Given the description of an element on the screen output the (x, y) to click on. 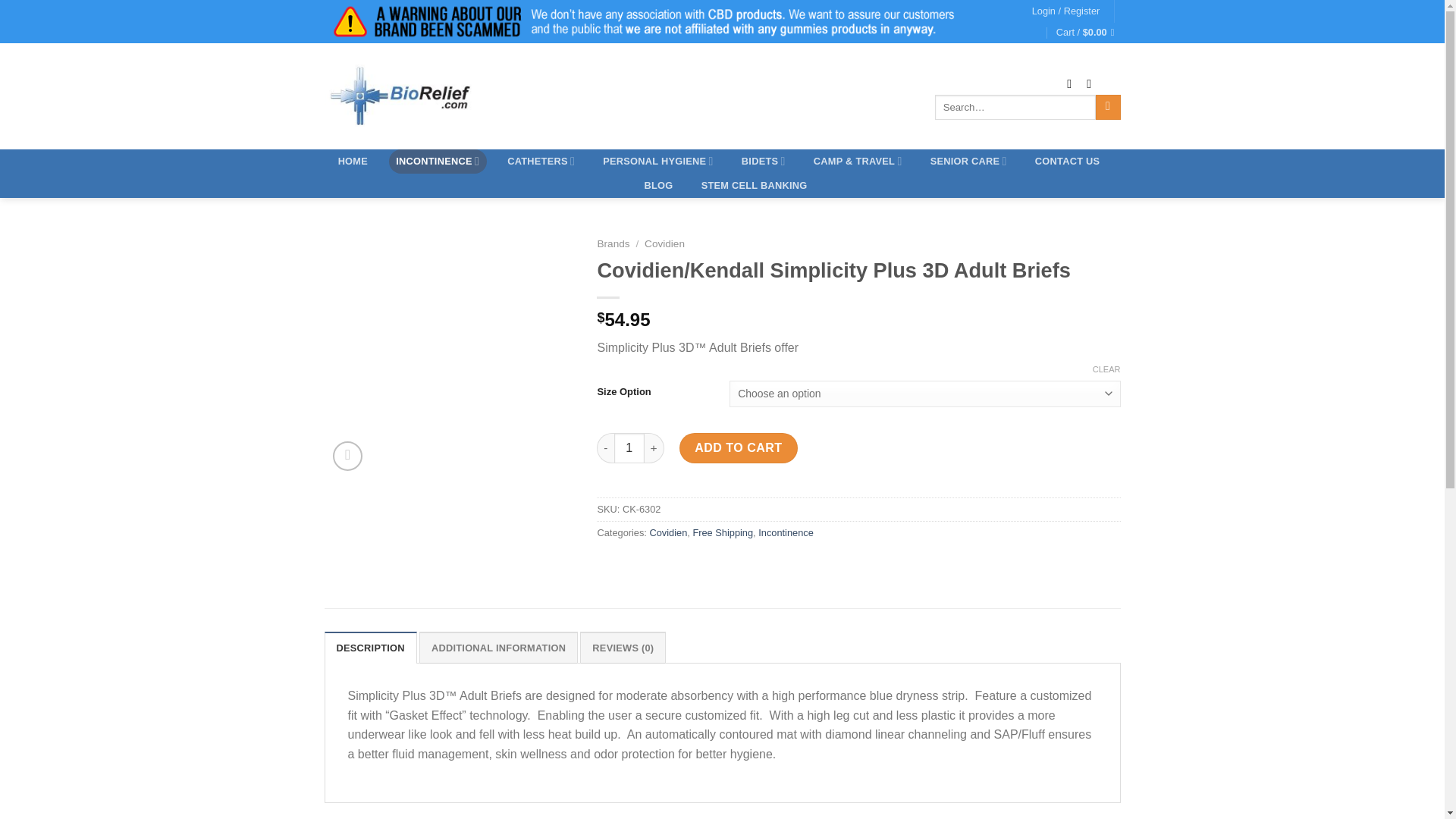
Follow on Instagram (1092, 83)
Cart (1089, 32)
Zoom (347, 455)
Follow on Facebook (1072, 83)
1 (629, 448)
Search (1108, 107)
BIDETS (762, 161)
HOME (352, 161)
BioRelief - Better Health Through Hygiene (400, 95)
CATHETERS (541, 161)
